Given the description of an element on the screen output the (x, y) to click on. 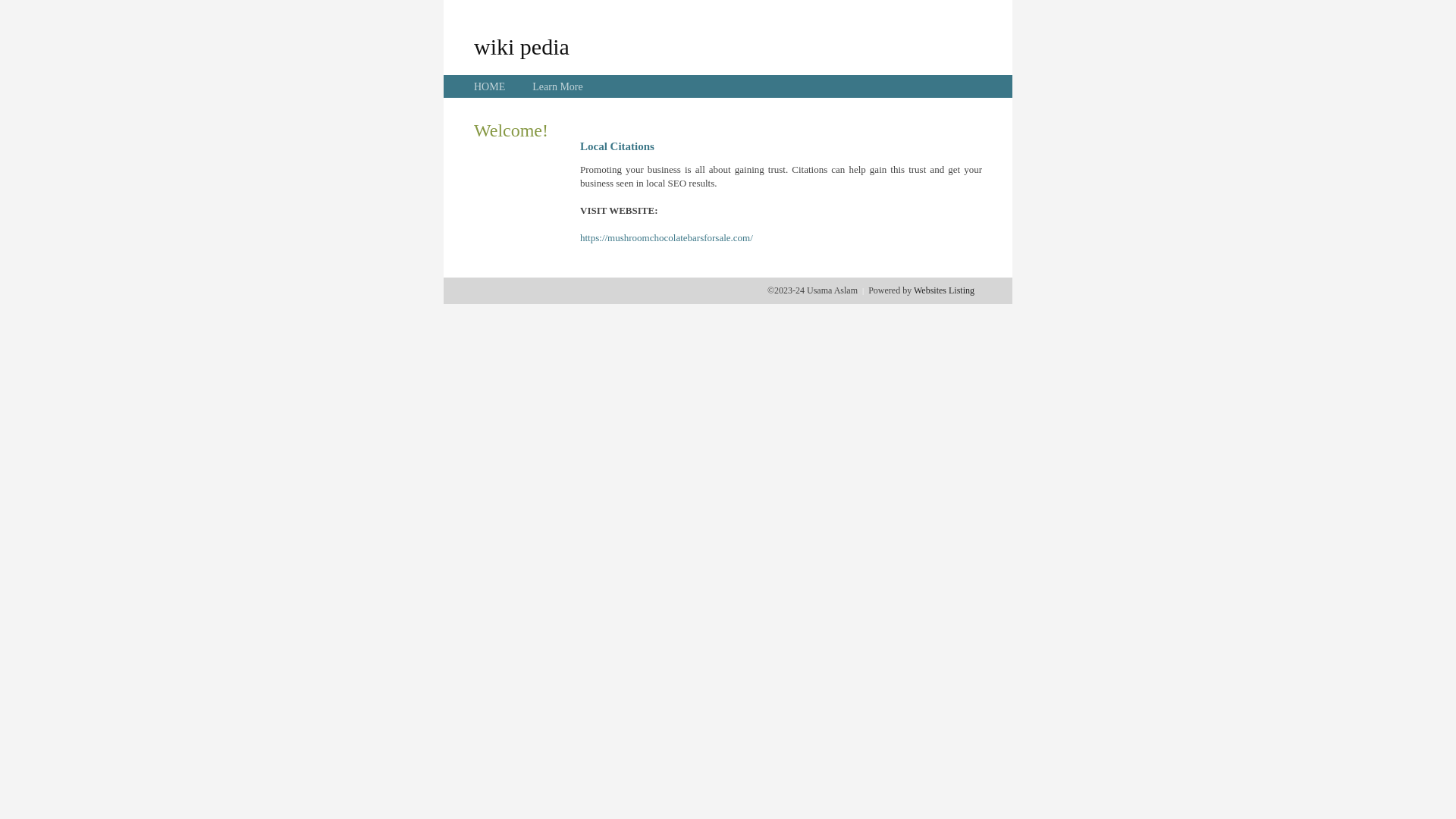
wiki pedia Element type: text (521, 46)
HOME Element type: text (489, 86)
Learn More Element type: text (557, 86)
https://mushroomchocolatebarsforsale.com/ Element type: text (666, 237)
Websites Listing Element type: text (943, 290)
